Given the description of an element on the screen output the (x, y) to click on. 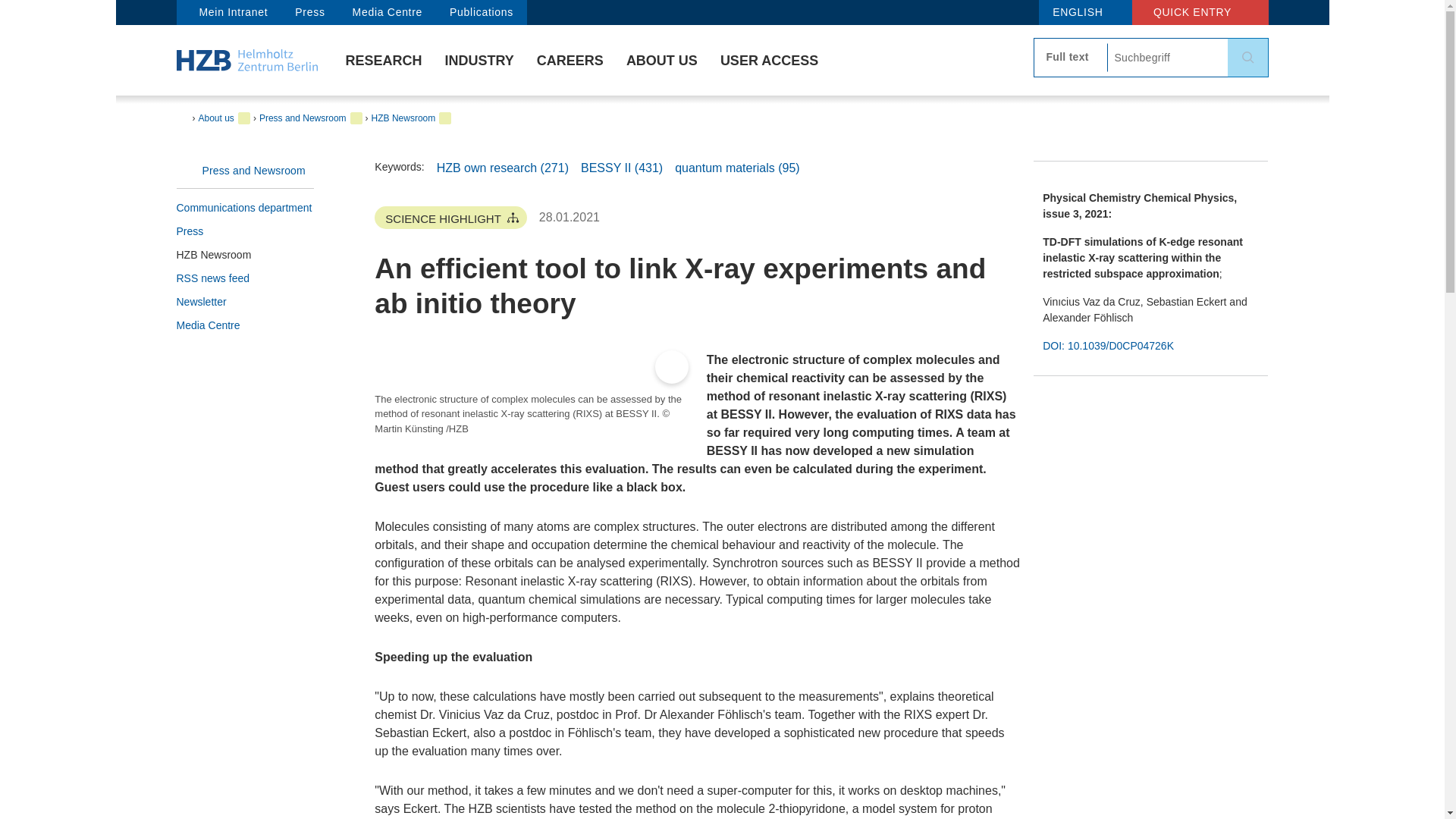
Communications department (245, 208)
QUICK ENTRY (1199, 12)
Media Centre (245, 325)
HZB Newsroom (245, 254)
Press (245, 231)
RSS news feed (245, 278)
Newsletter (245, 301)
Mein Intranet (228, 12)
Media Centre (387, 12)
Publications (481, 12)
Press (309, 12)
Press and Newsroom (245, 170)
Home (246, 60)
ENGLISH (1085, 12)
